Given the description of an element on the screen output the (x, y) to click on. 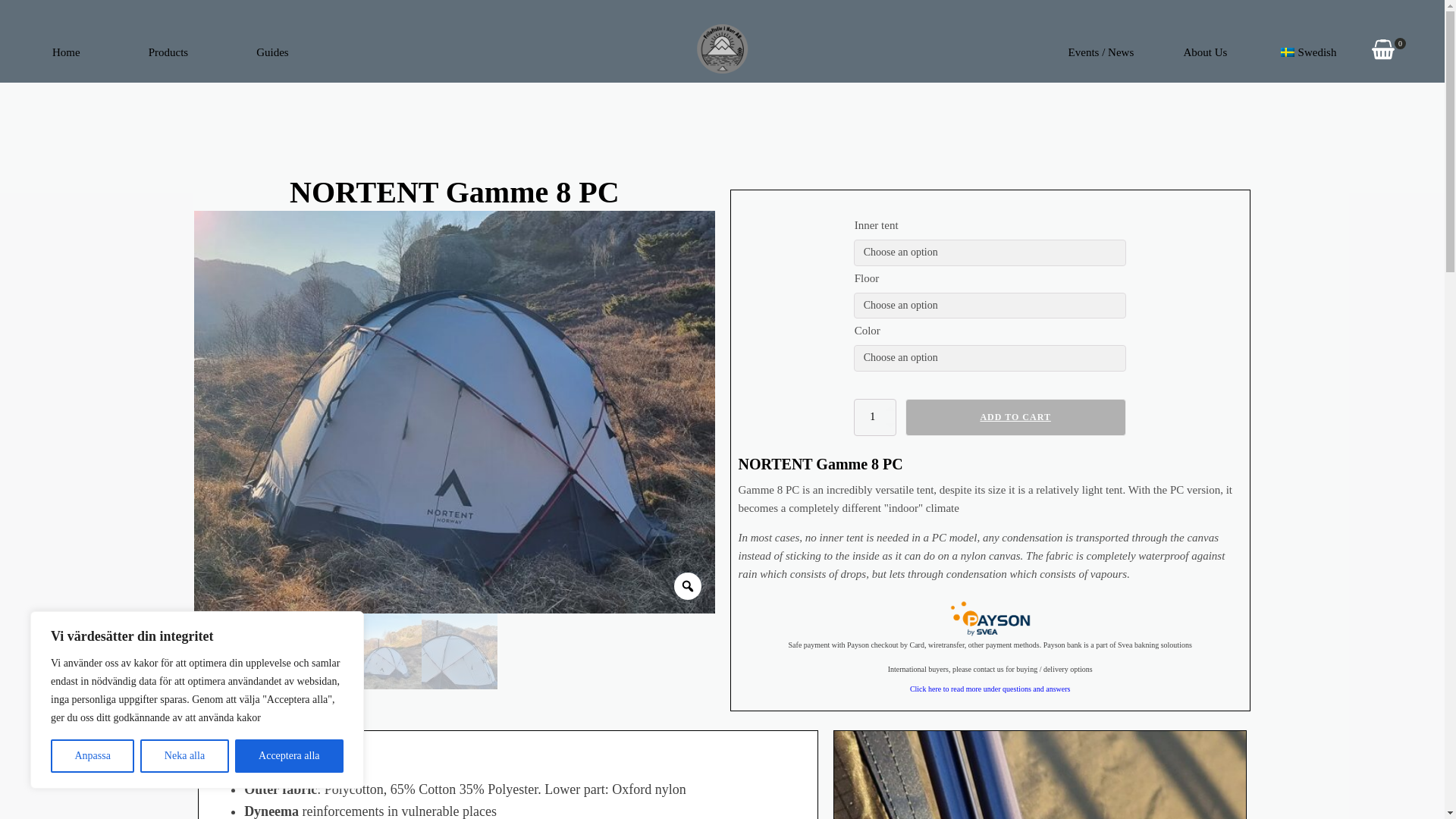
Neka alla (183, 756)
1 (874, 416)
Anpassa (91, 756)
Swedish (1287, 51)
Acceptera alla (288, 756)
